Given the description of an element on the screen output the (x, y) to click on. 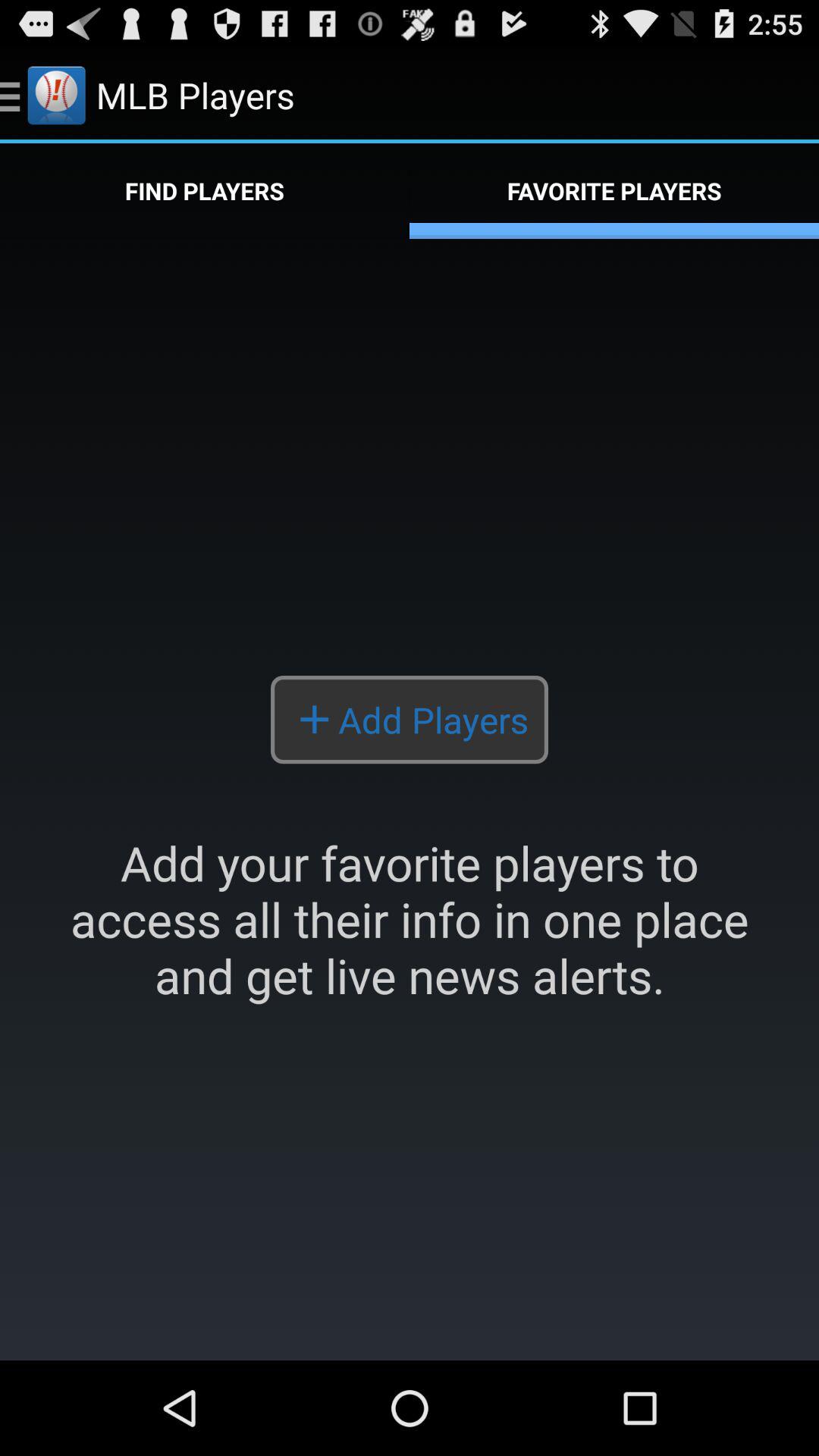
open the app next to the favorite players icon (204, 190)
